Given the description of an element on the screen output the (x, y) to click on. 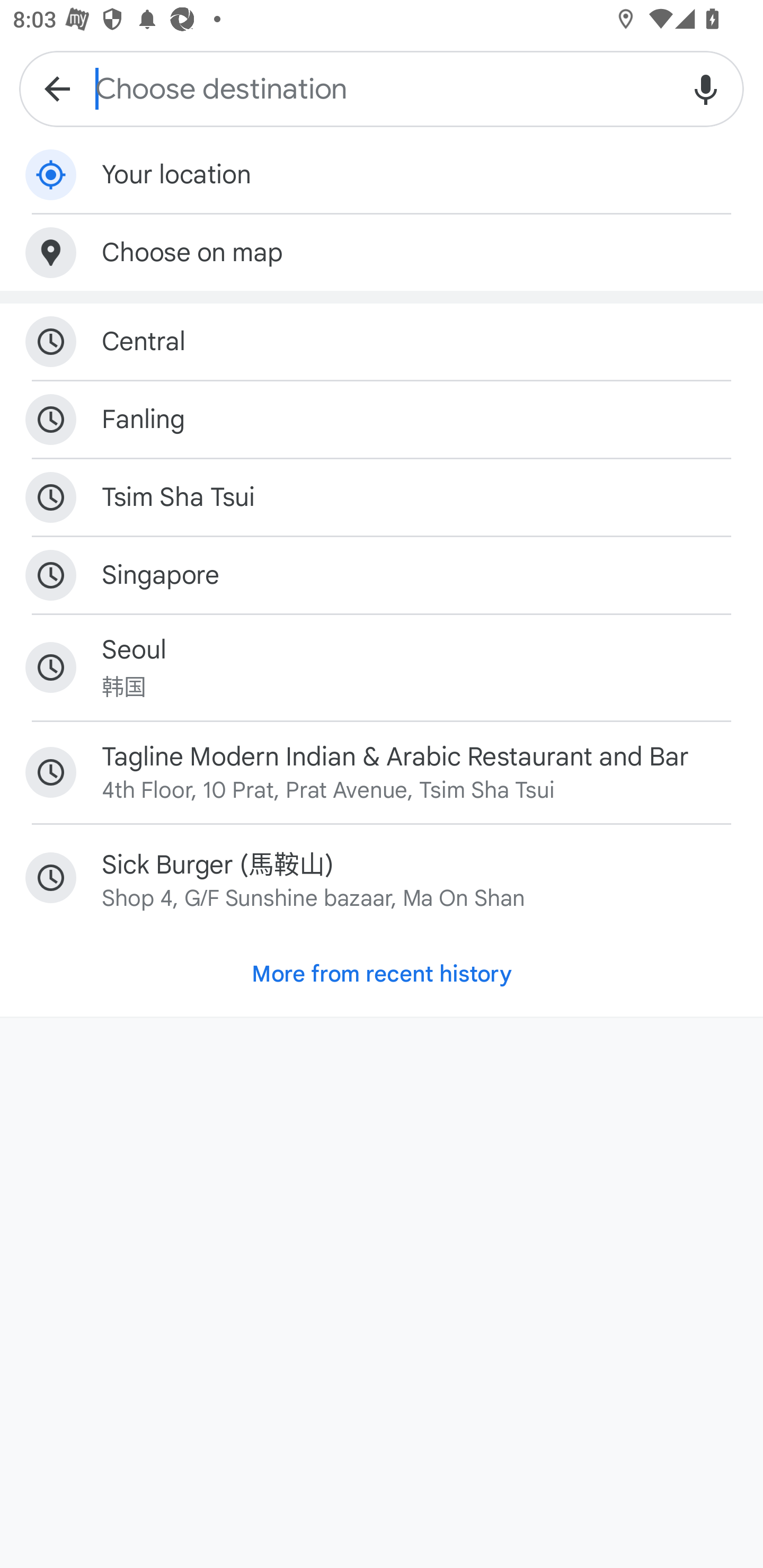
Navigate up (57, 88)
Choose destination (381, 88)
Voice search (705, 88)
Your location (381, 174)
Choose on map (381, 252)
Central (381, 341)
Fanling (381, 419)
Tsim Sha Tsui (381, 497)
Singapore (381, 575)
Seoul 韩国 (381, 666)
More from recent history (381, 973)
